Given the description of an element on the screen output the (x, y) to click on. 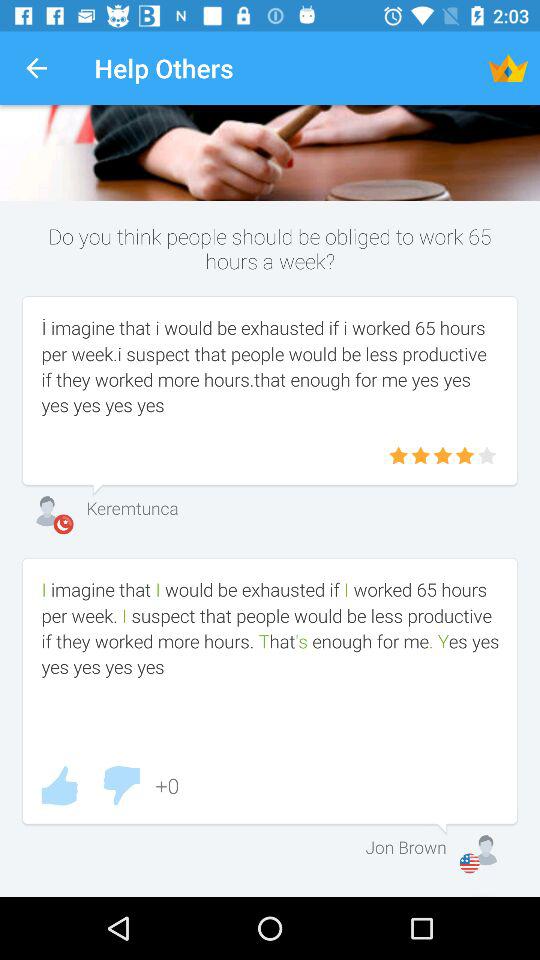
tap the item to the left of the help others icon (36, 68)
